Given the description of an element on the screen output the (x, y) to click on. 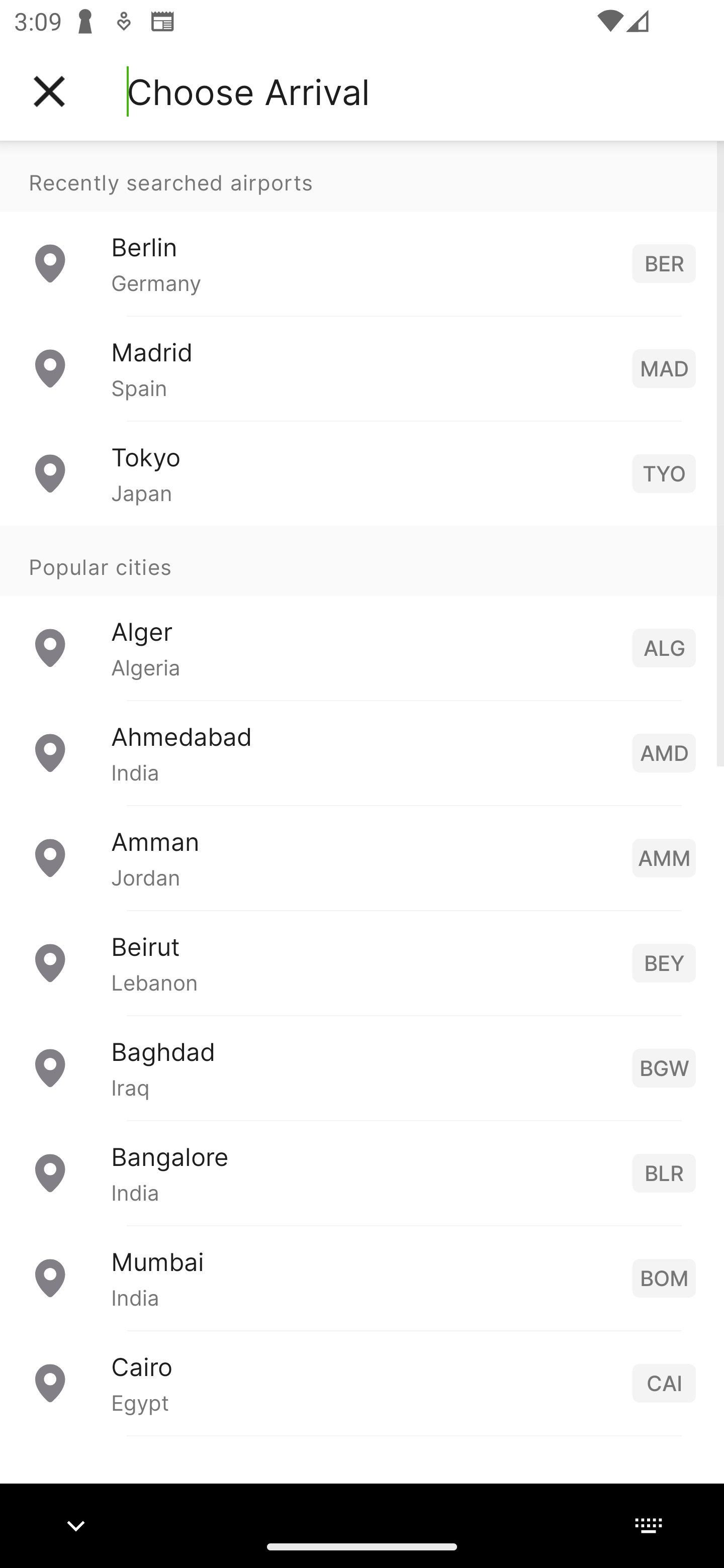
Choose Arrival (247, 91)
Recently searched airports Berlin Germany BER (362, 228)
Recently searched airports (362, 176)
Madrid Spain MAD (362, 367)
Tokyo Japan TYO (362, 472)
Popular cities Alger Algeria ALG (362, 612)
Popular cities (362, 560)
Ahmedabad India AMD (362, 751)
Amman Jordan AMM (362, 856)
Beirut Lebanon BEY (362, 961)
Baghdad Iraq BGW (362, 1066)
Bangalore India BLR (362, 1171)
Mumbai India BOM (362, 1276)
Cairo Egypt CAI (362, 1381)
